Given the description of an element on the screen output the (x, y) to click on. 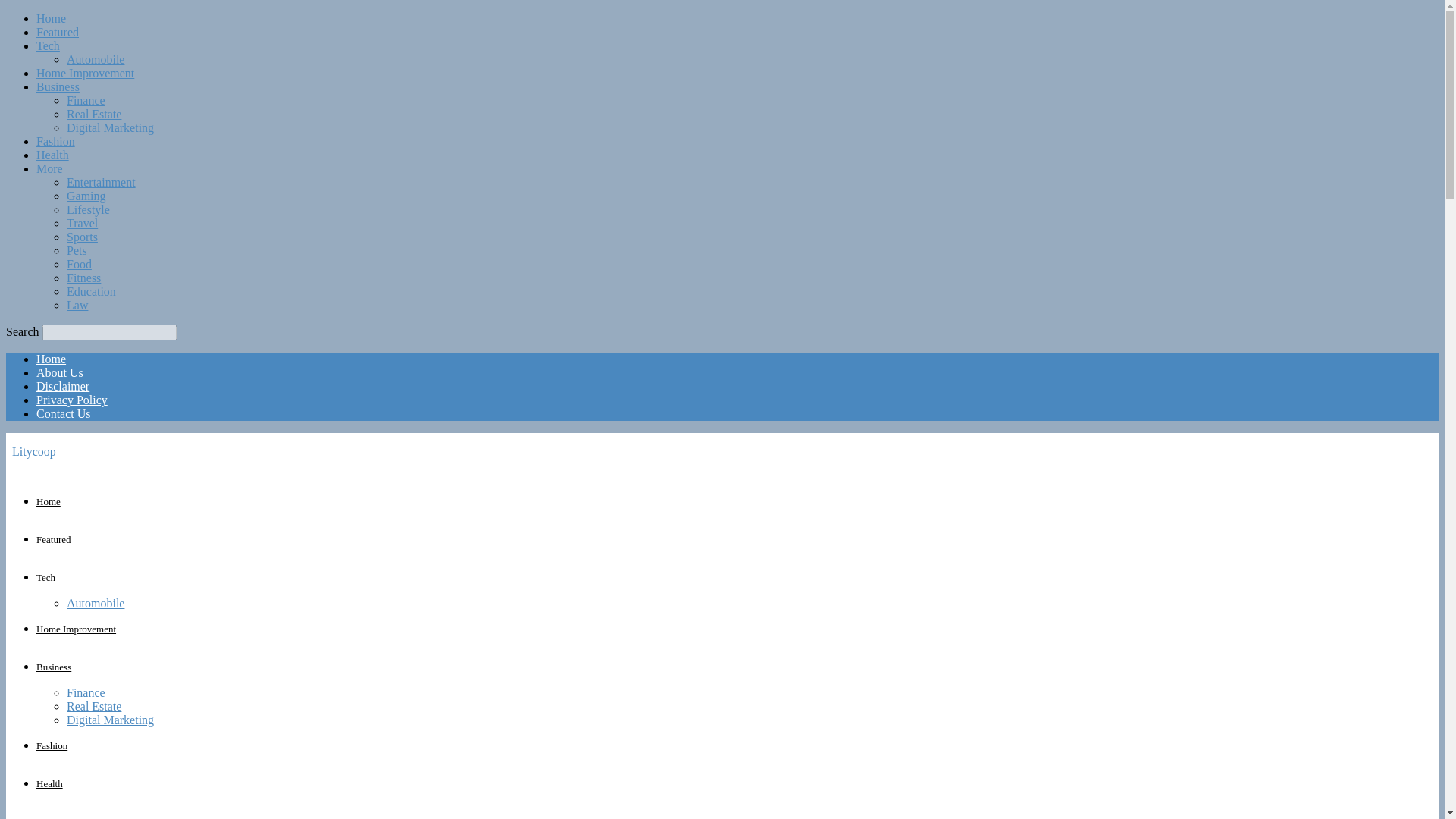
Health (52, 154)
Home Improvement (84, 72)
Home (48, 501)
Finance (85, 100)
More (49, 168)
Sports (81, 236)
Travel (81, 223)
Fitness (83, 277)
Tech (47, 45)
Lifestyle (88, 209)
